Given the description of an element on the screen output the (x, y) to click on. 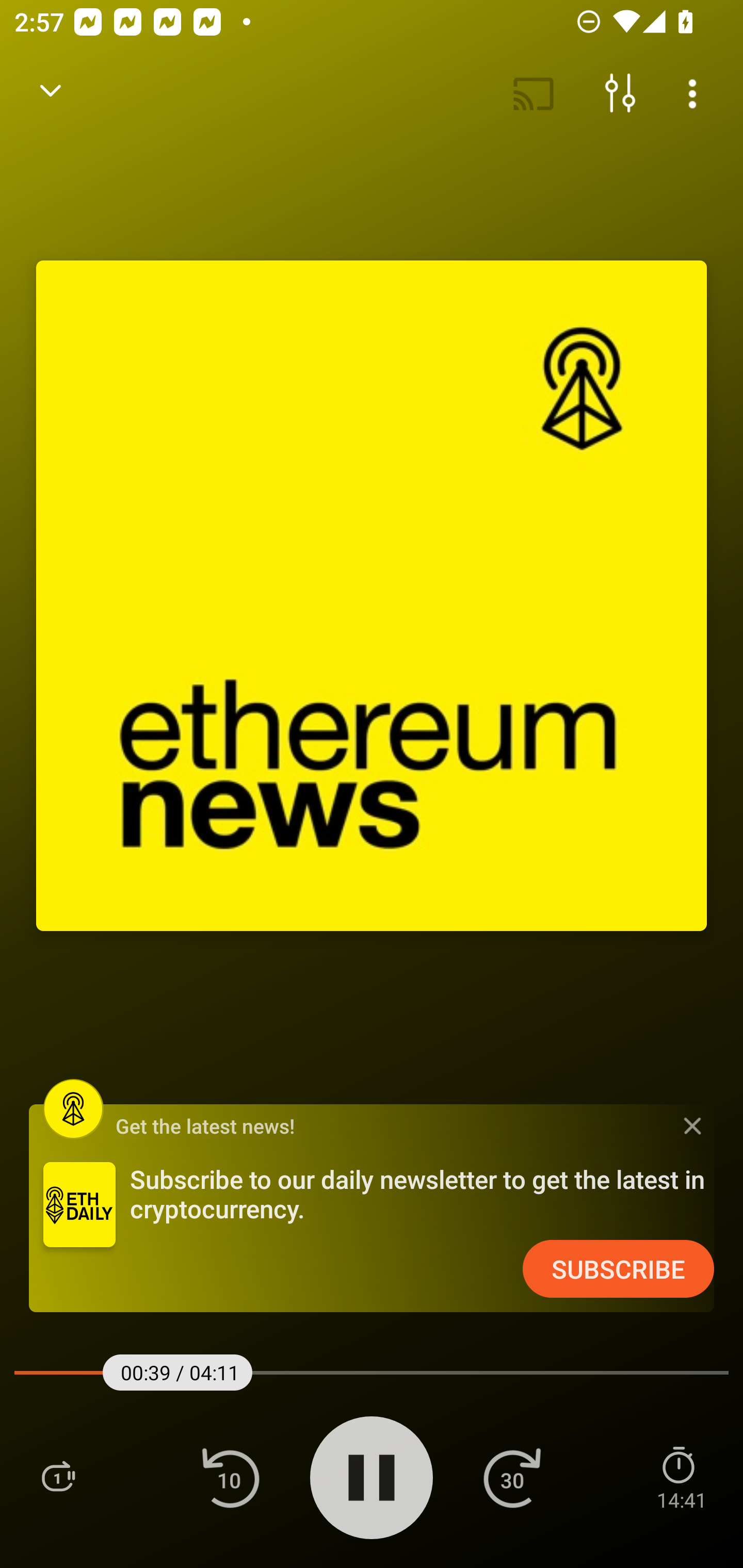
Cast. Disconnected (533, 93)
 Back (50, 94)
SUBSCRIBE (618, 1269)
Sleep Timer  14:41 (681, 1477)
 Playlist (57, 1477)
